Given the description of an element on the screen output the (x, y) to click on. 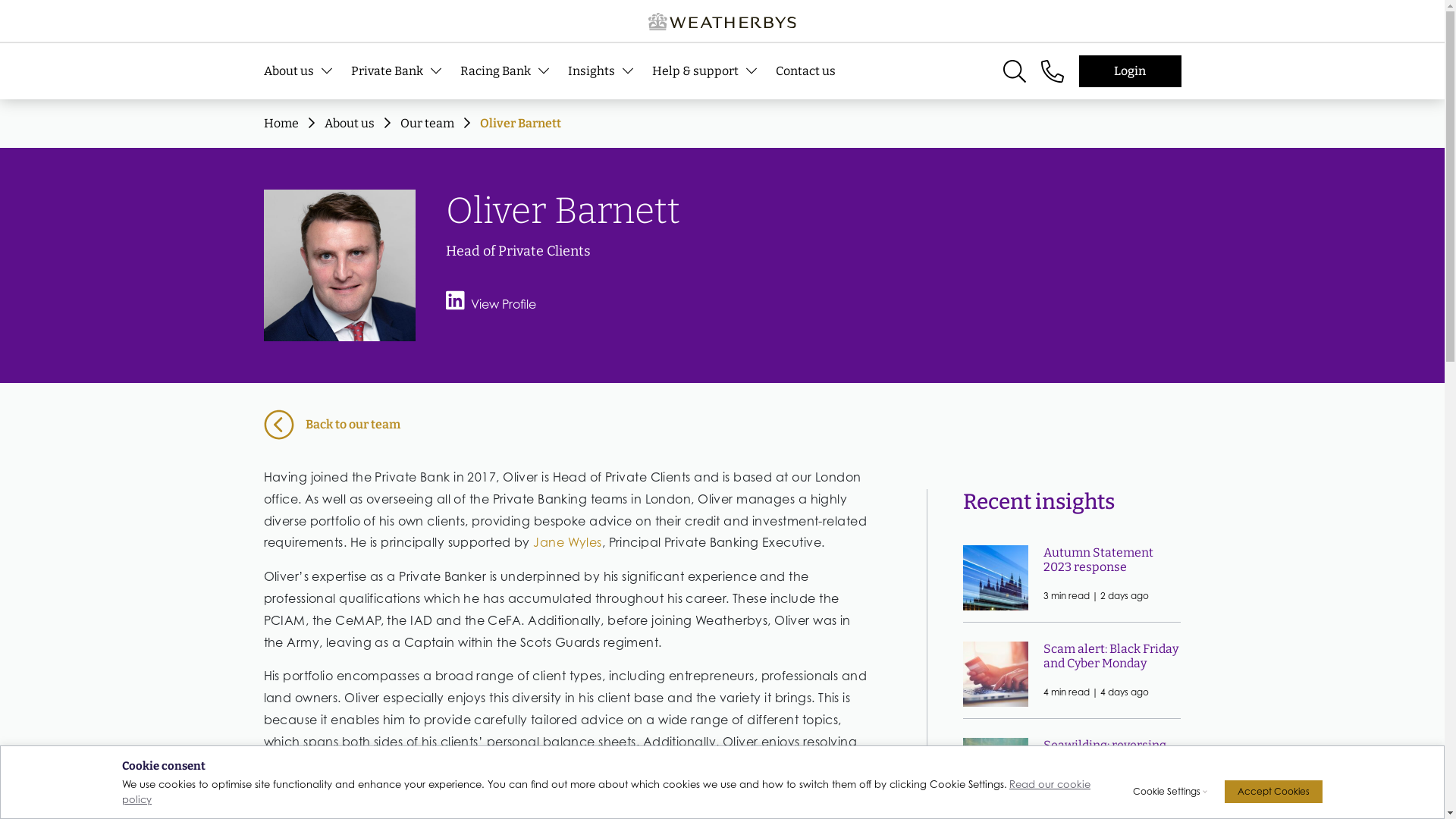
Private Bank Element type: text (404, 71)
Insights Element type: text (609, 71)
Accept Cookies Element type: text (1273, 791)
Our team Element type: text (427, 123)
About us Element type: text (349, 123)
Cookie Settings Element type: text (1166, 791)
Login Element type: text (1129, 71)
Racing Bank Element type: text (513, 71)
Home Element type: text (280, 123)
About us Element type: text (307, 71)
Back to our team Element type: text (722, 424)
Autumn Statement 2023 response
3 min read | 2 days ago Element type: text (1072, 577)
View Profile Element type: text (490, 303)
Contact us Element type: text (814, 71)
Help & support Element type: text (713, 71)
Jane Wyles Element type: text (567, 541)
Read our cookie policy Element type: text (606, 791)
